Given the description of an element on the screen output the (x, y) to click on. 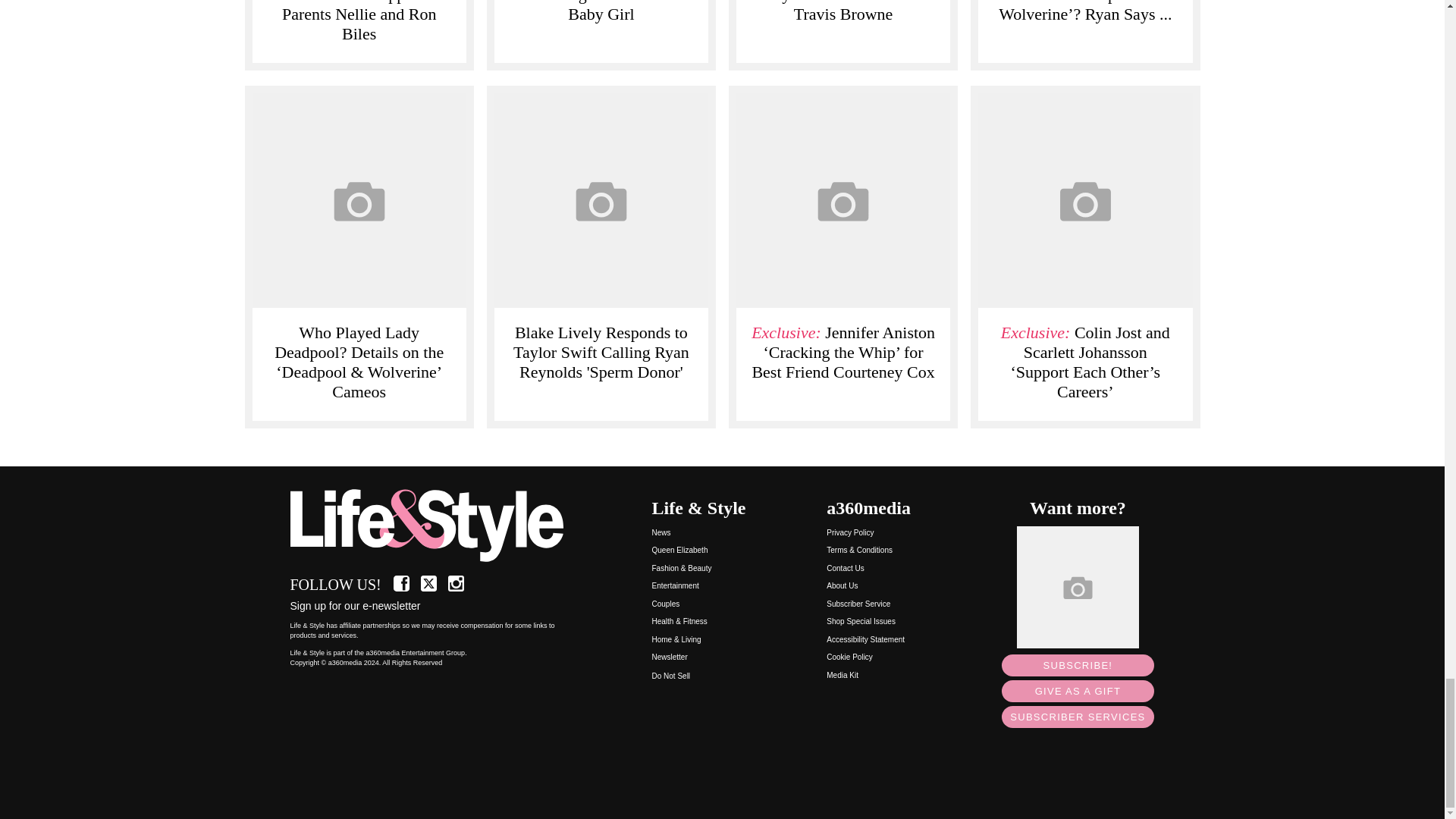
Home (434, 526)
